Given the description of an element on the screen output the (x, y) to click on. 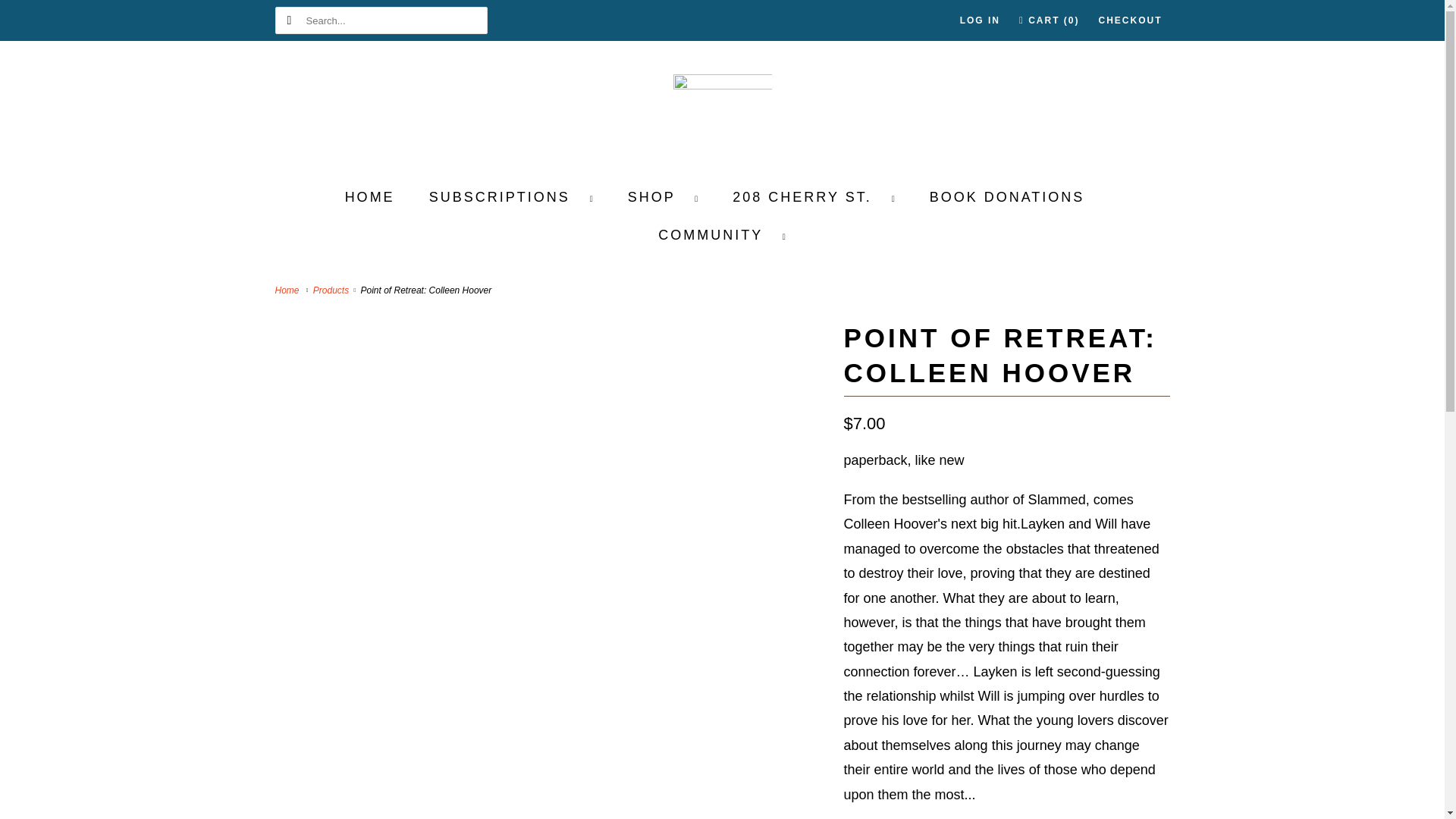
Products (332, 290)
BOOK DONATIONS (1007, 197)
HOME (369, 197)
CHECKOUT (1129, 20)
Recycle Read Repeat (722, 112)
LOG IN (979, 20)
Recycle Read Repeat (288, 290)
